Given the description of an element on the screen output the (x, y) to click on. 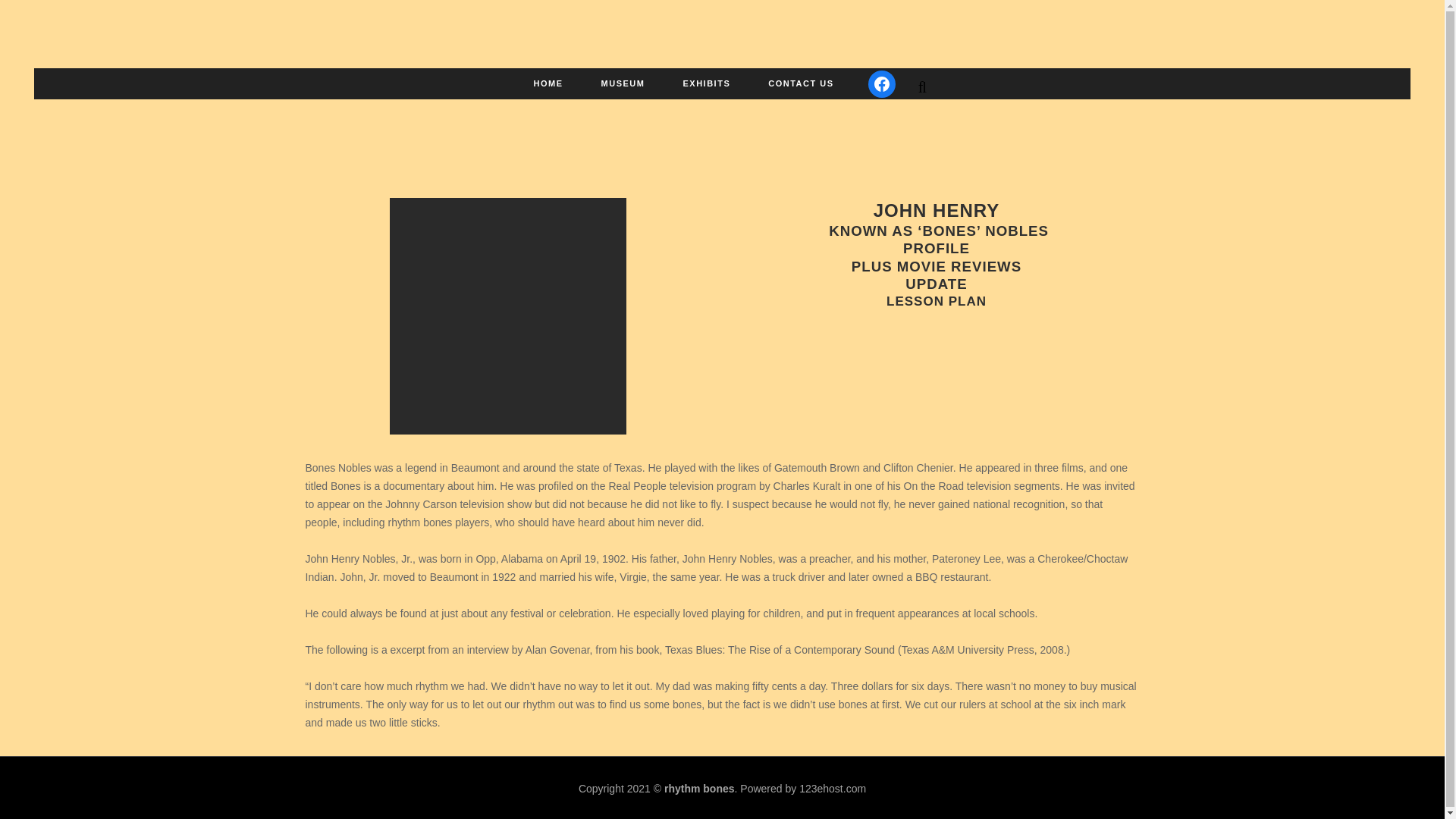
HOME (548, 106)
Facebook (881, 105)
MUSEUM (622, 106)
LESSON PLAN (936, 301)
PROFILE (935, 248)
UPDATE (935, 283)
EXHIBITS (706, 106)
CONTACT US (800, 106)
